Given the description of an element on the screen output the (x, y) to click on. 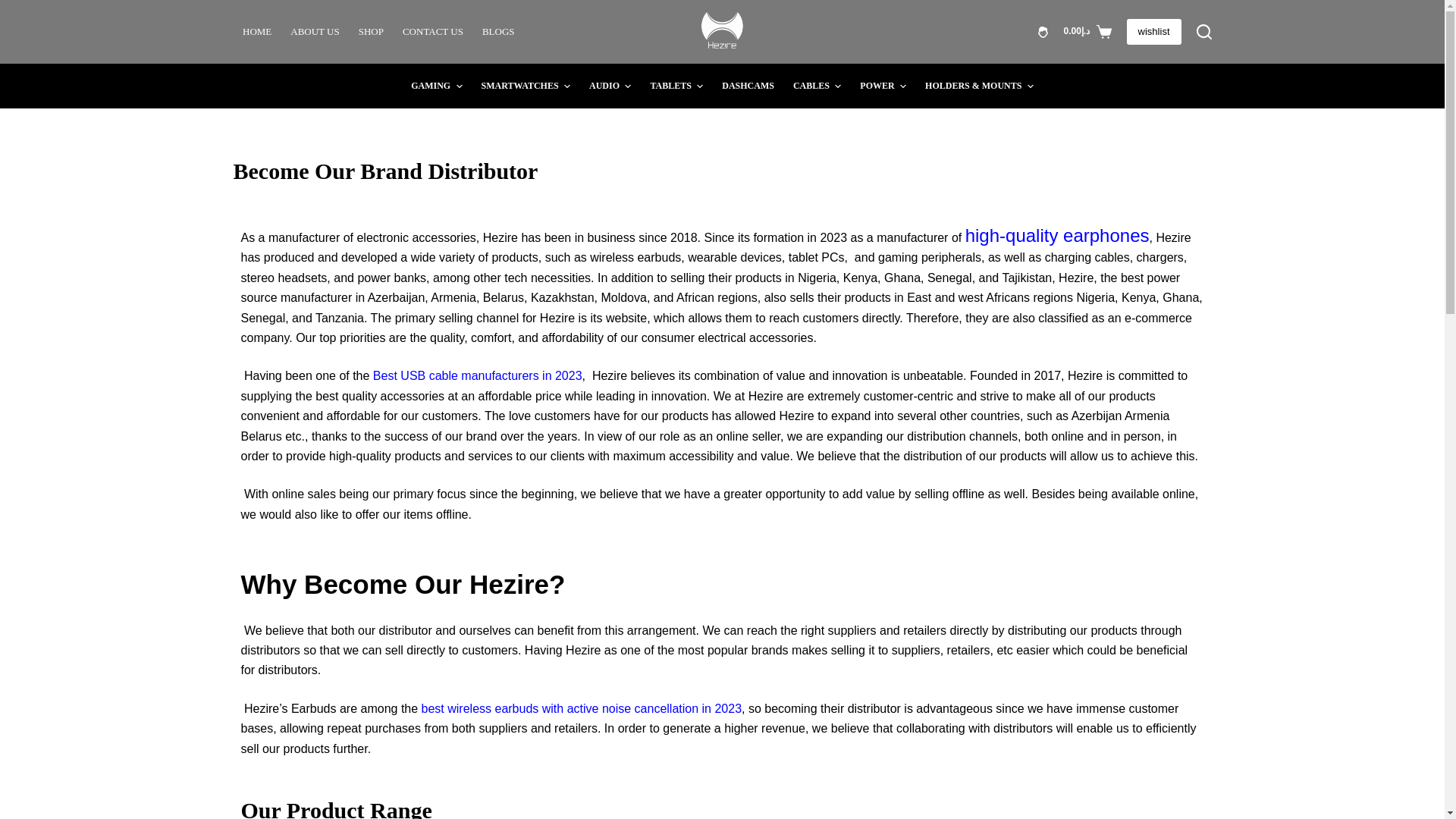
ABOUT US (315, 31)
wishlist (1153, 31)
GAMING (436, 85)
CONTACT US (432, 31)
Skip to content (15, 7)
Become Our Brand Distributor (721, 170)
